Given the description of an element on the screen output the (x, y) to click on. 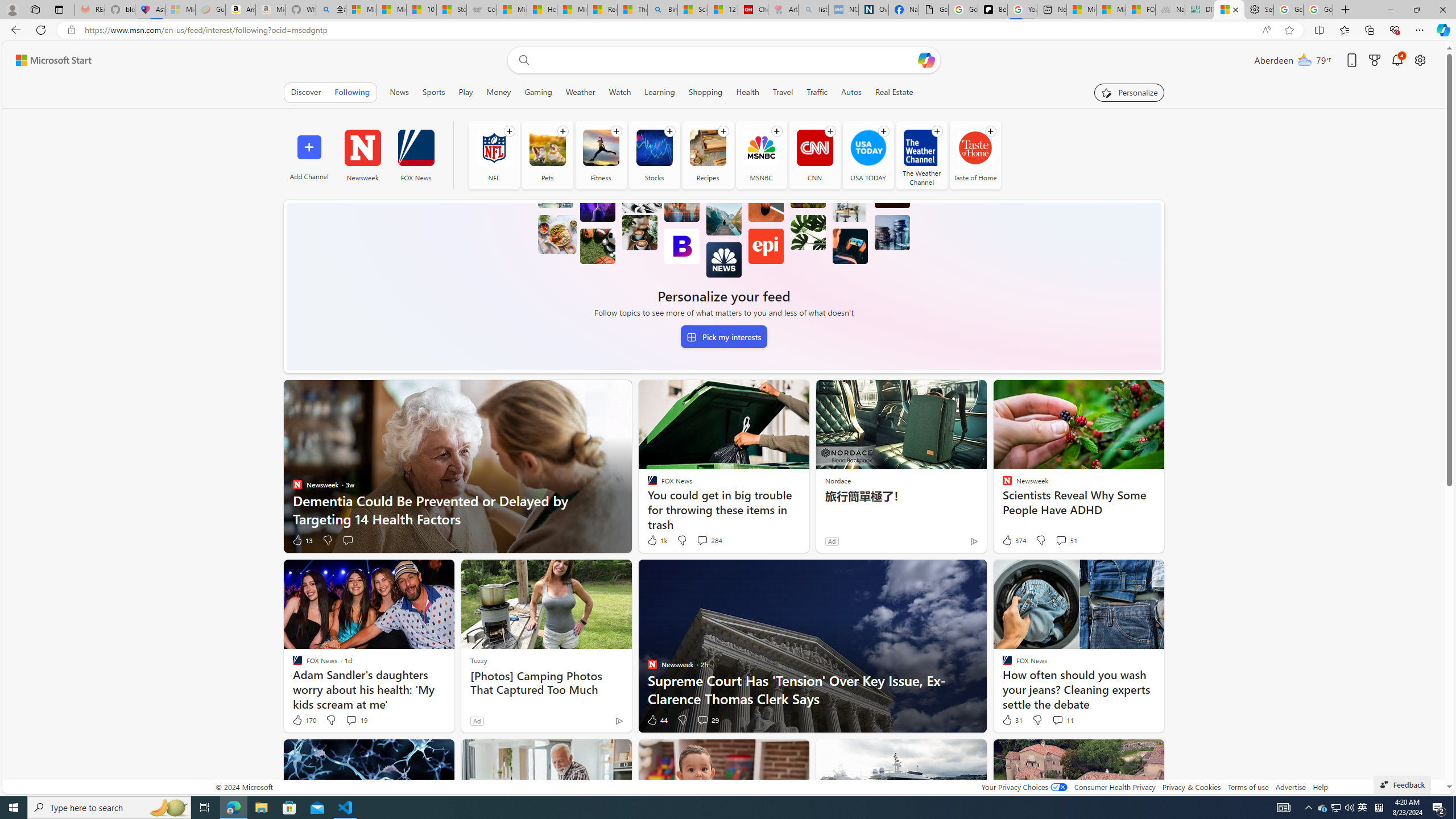
Follow channel (989, 130)
View comments 11 Comment (1062, 719)
44 Like (657, 719)
Taste of Home (974, 147)
Autos (851, 92)
Personalize your feed" (1129, 92)
